Given the description of an element on the screen output the (x, y) to click on. 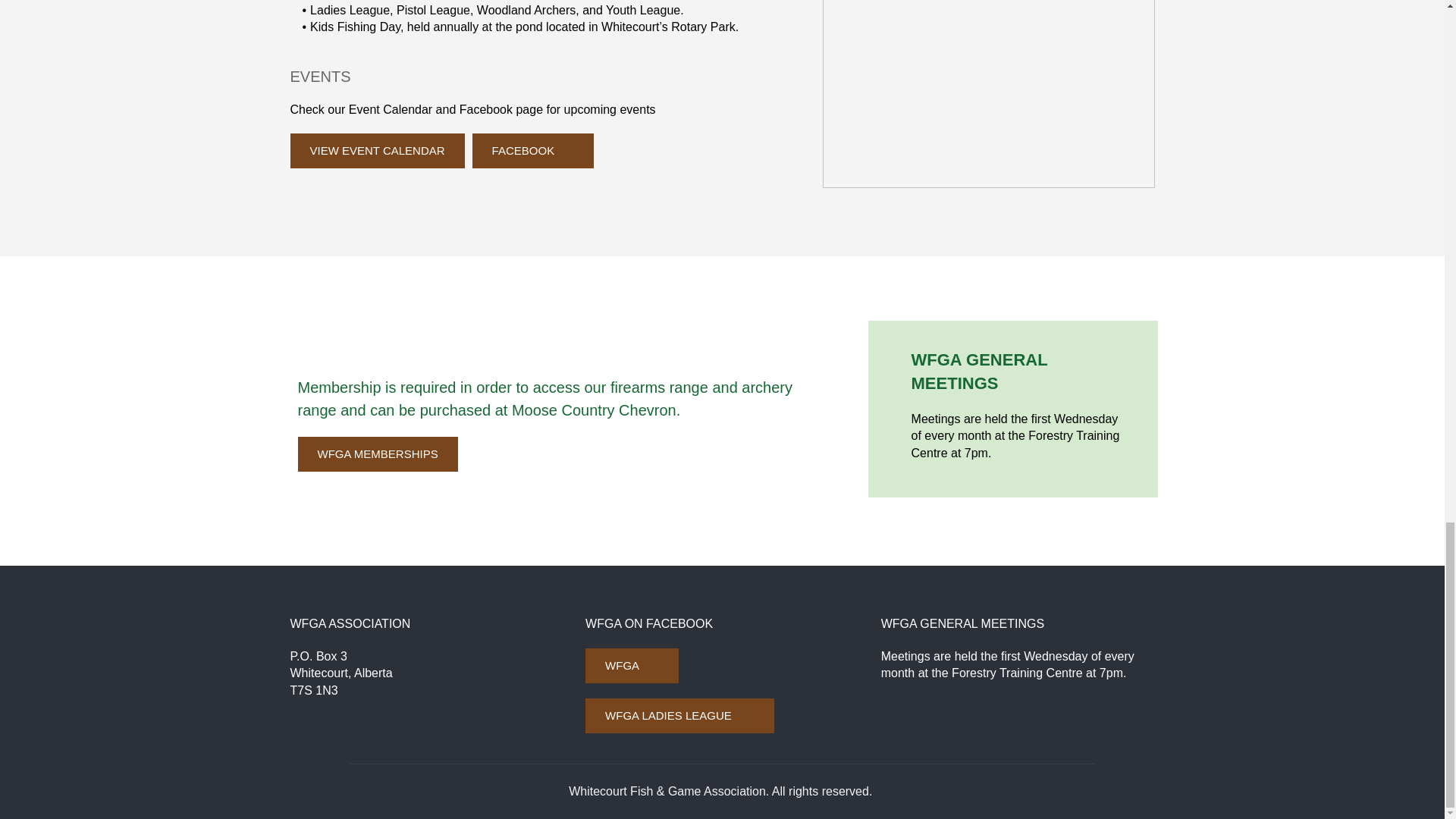
WFGA (631, 665)
WFGA LADIES LEAGUE  (679, 715)
FACEBOOK (532, 150)
WFGA MEMBERSHIPS (377, 453)
VIEW EVENT CALENDAR (376, 150)
